Given the description of an element on the screen output the (x, y) to click on. 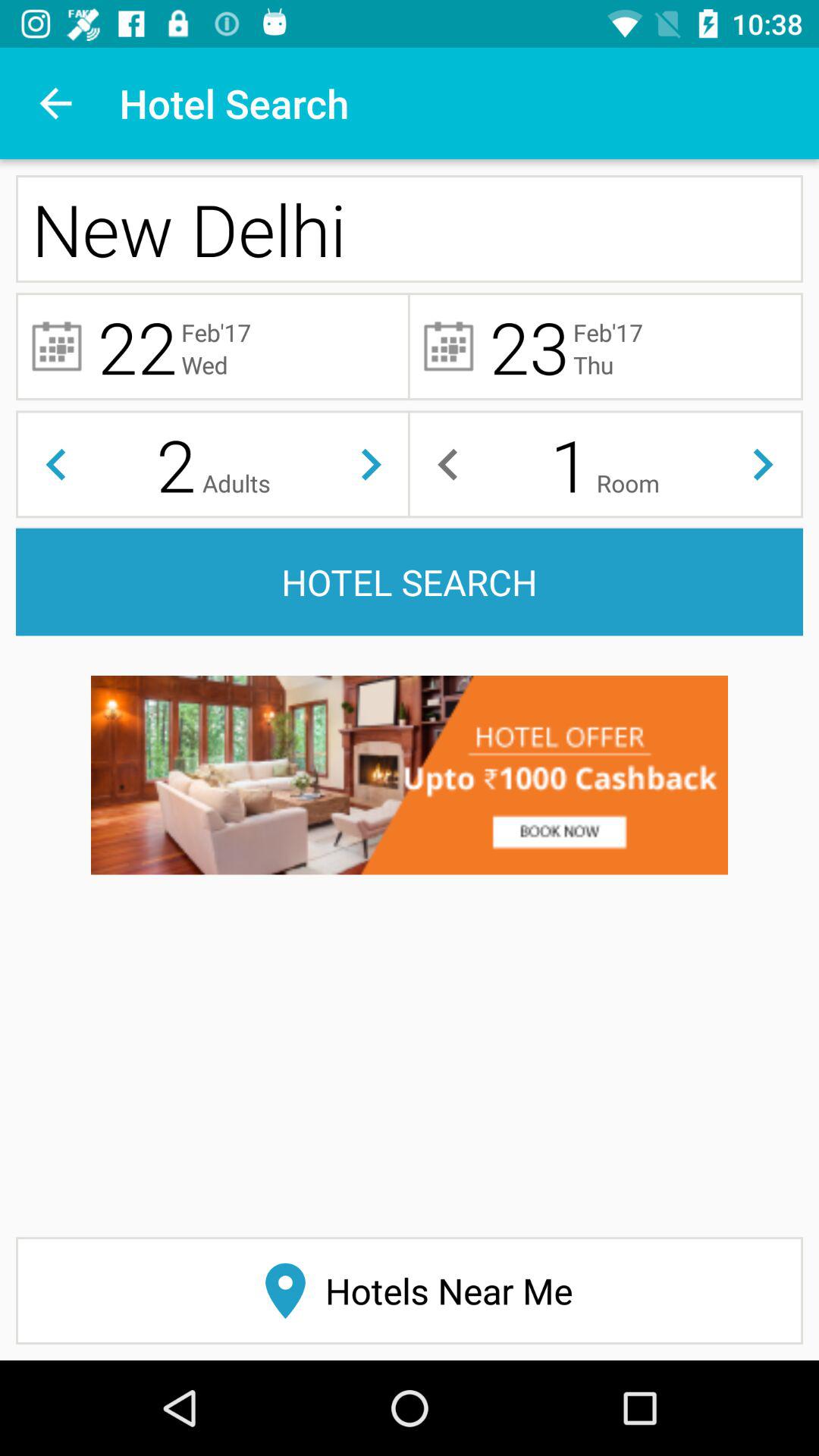
increase number of adults (371, 464)
